Given the description of an element on the screen output the (x, y) to click on. 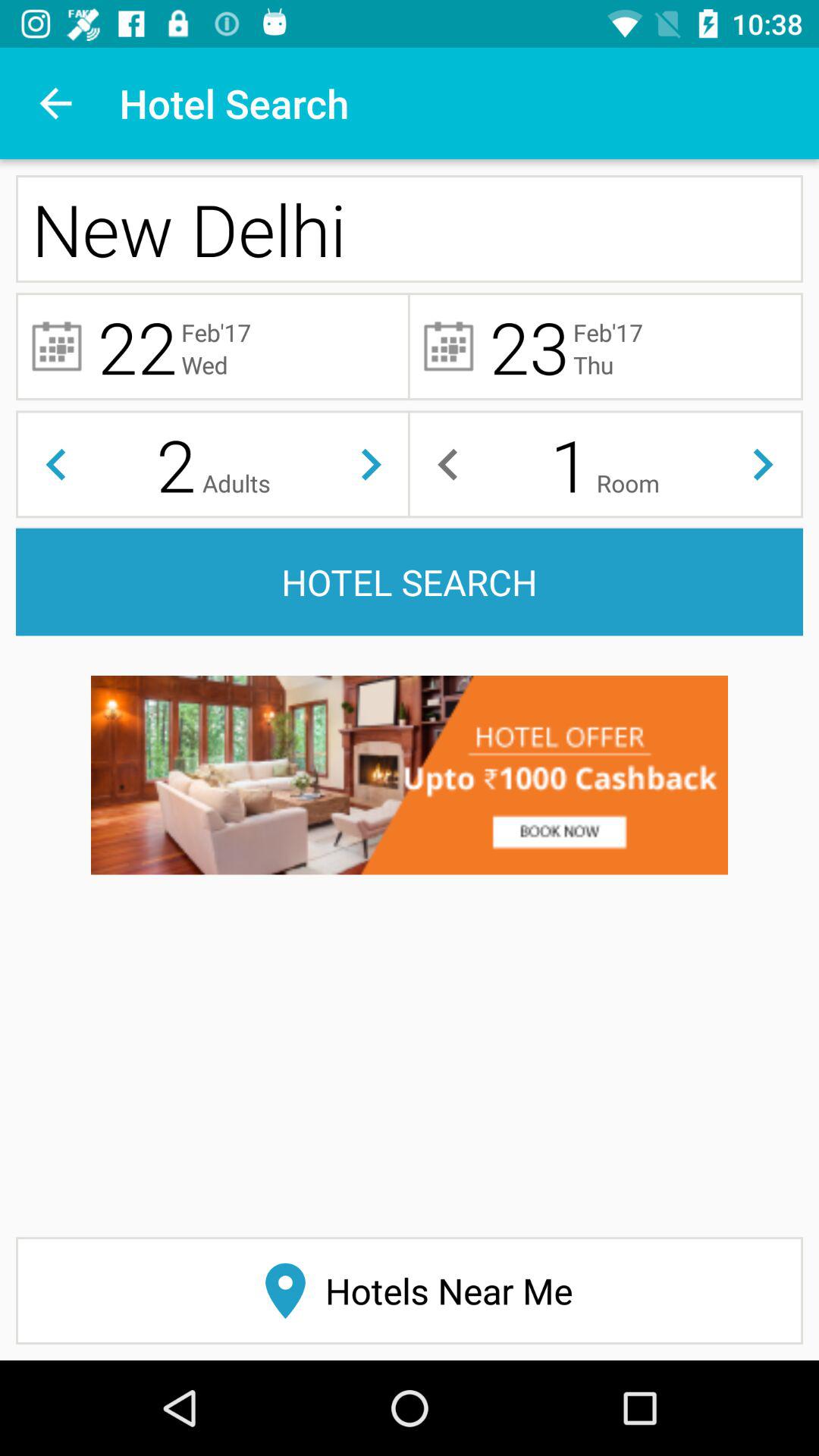
increase number of adults (371, 464)
